Given the description of an element on the screen output the (x, y) to click on. 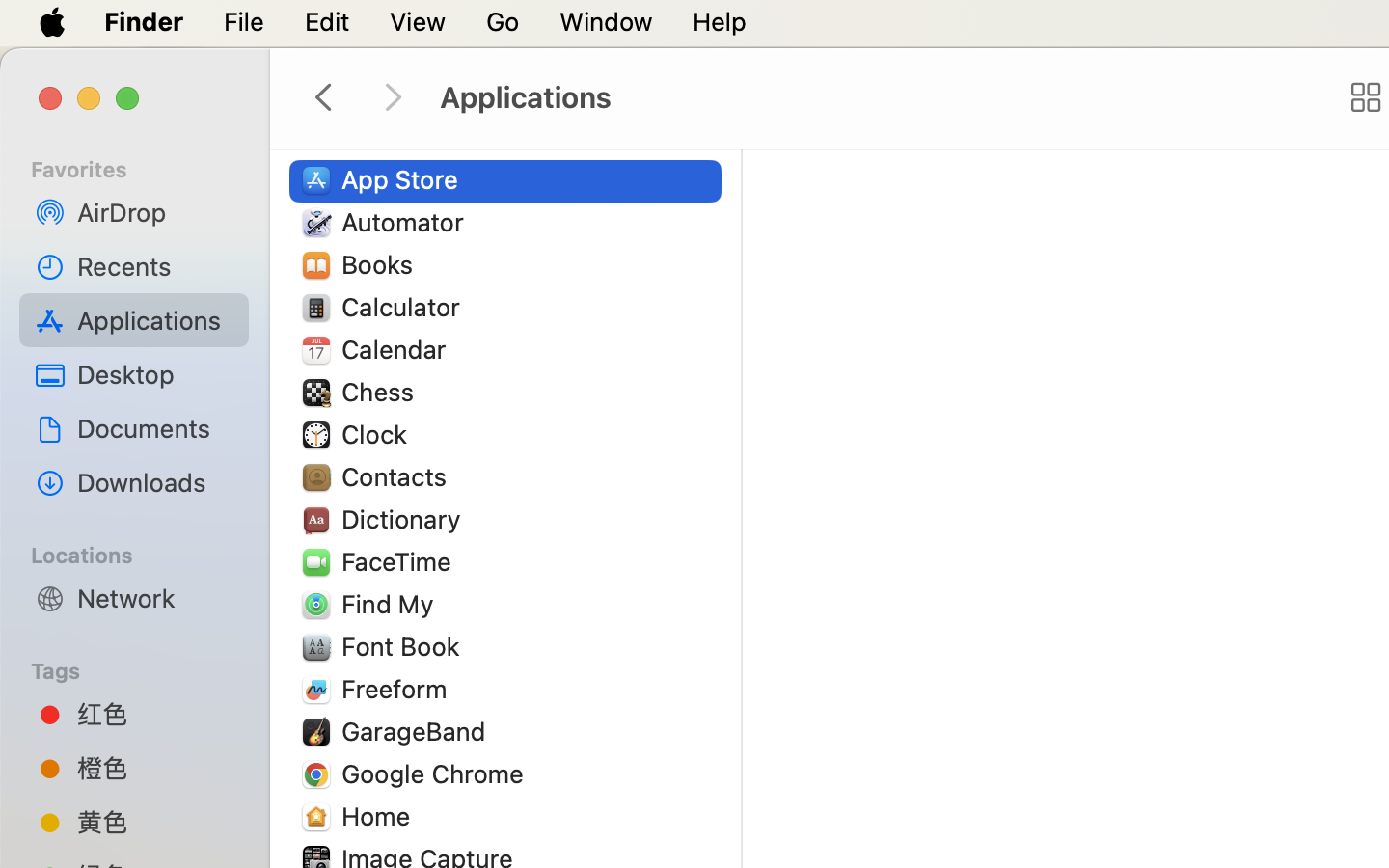
红色 Element type: AXStaticText (155, 713)
Documents Element type: AXStaticText (155, 427)
Font Book Element type: AXTextField (404, 645)
Calendar Element type: AXTextField (398, 348)
Clock Element type: AXTextField (378, 433)
